Given the description of an element on the screen output the (x, y) to click on. 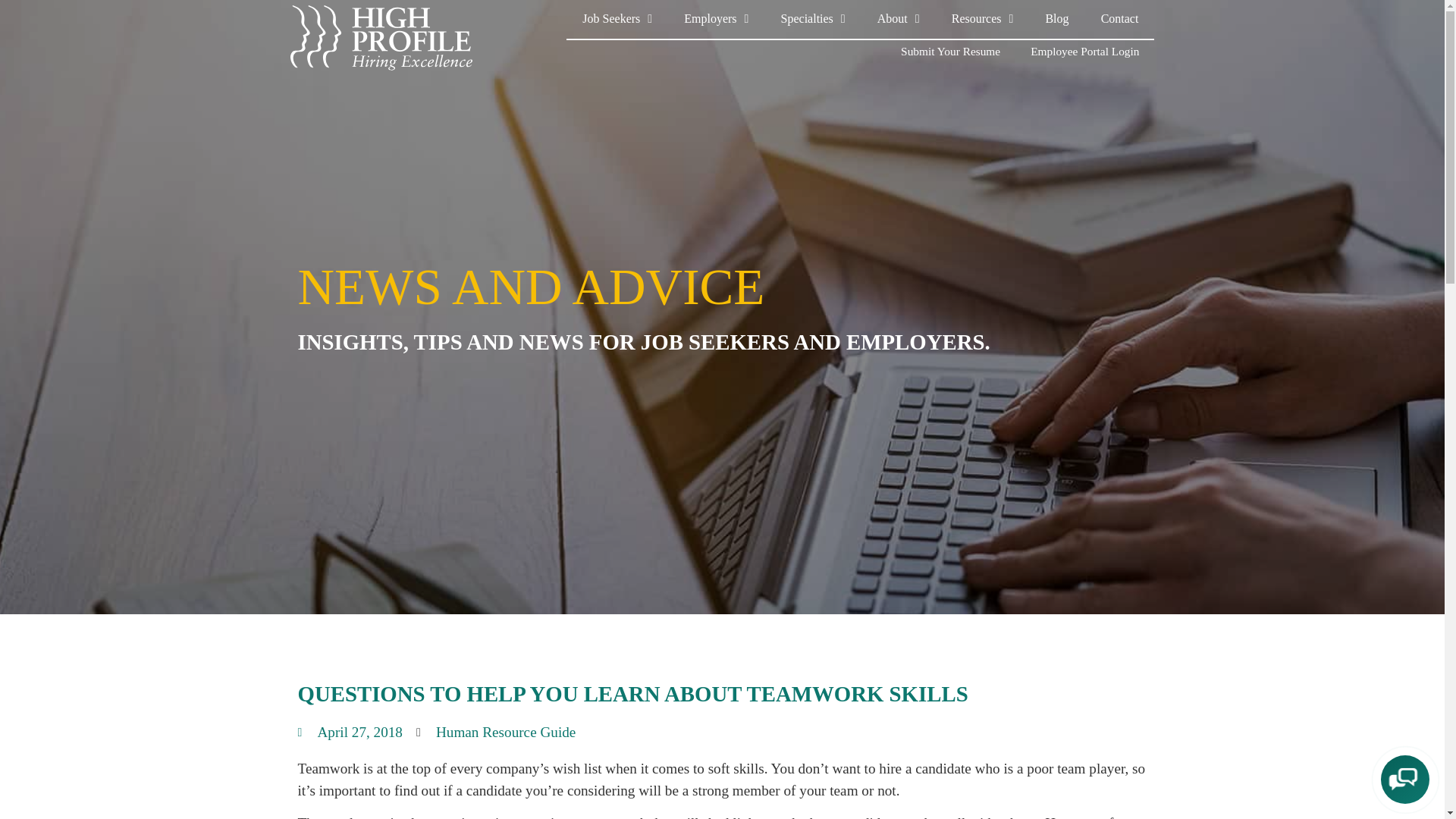
Contact (1119, 19)
Employers (716, 19)
Specialties (812, 19)
Blog (1056, 19)
Resources (982, 19)
About (898, 19)
Job Seekers (617, 19)
